Given the description of an element on the screen output the (x, y) to click on. 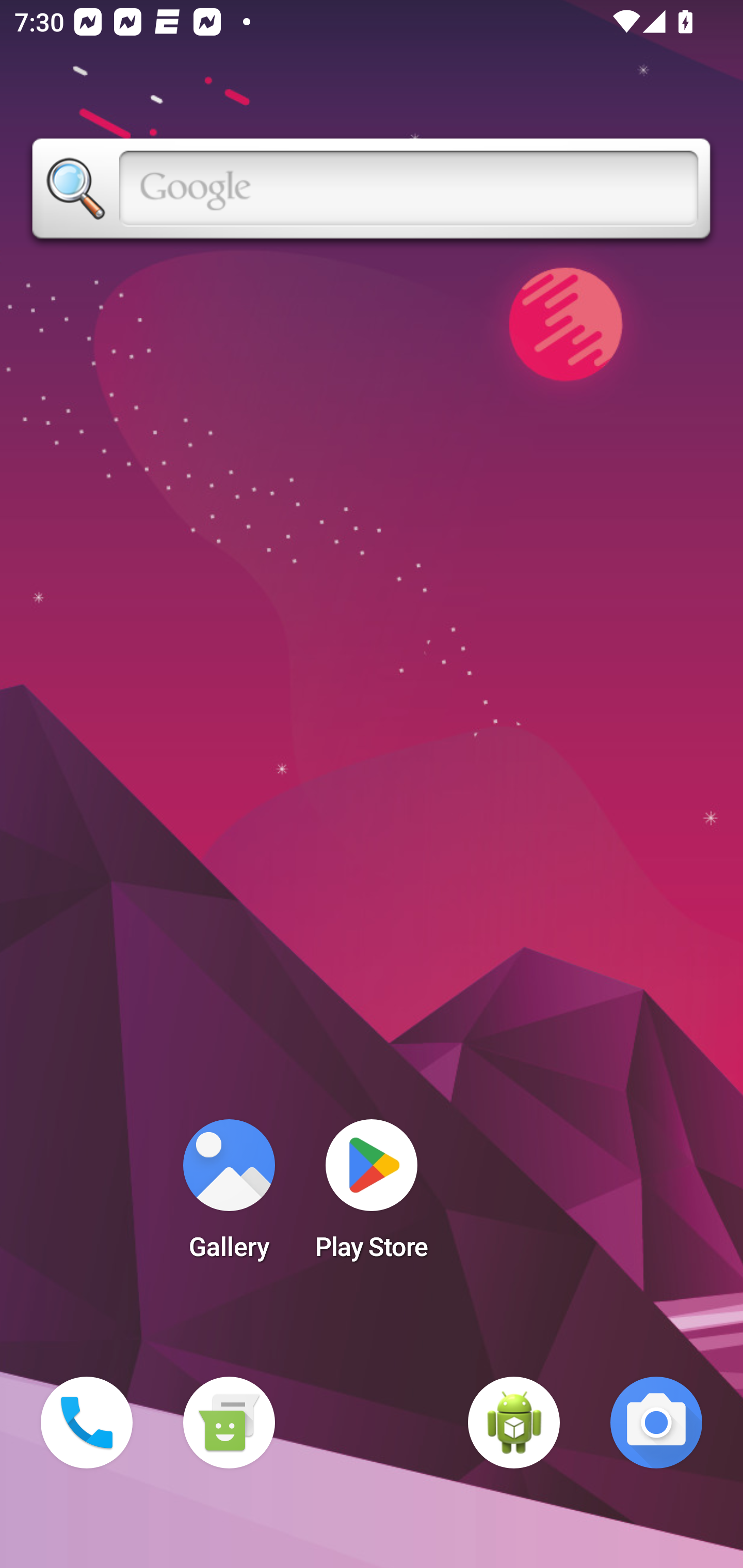
Gallery (228, 1195)
Play Store (371, 1195)
Phone (86, 1422)
Messaging (228, 1422)
WebView Browser Tester (513, 1422)
Camera (656, 1422)
